Given the description of an element on the screen output the (x, y) to click on. 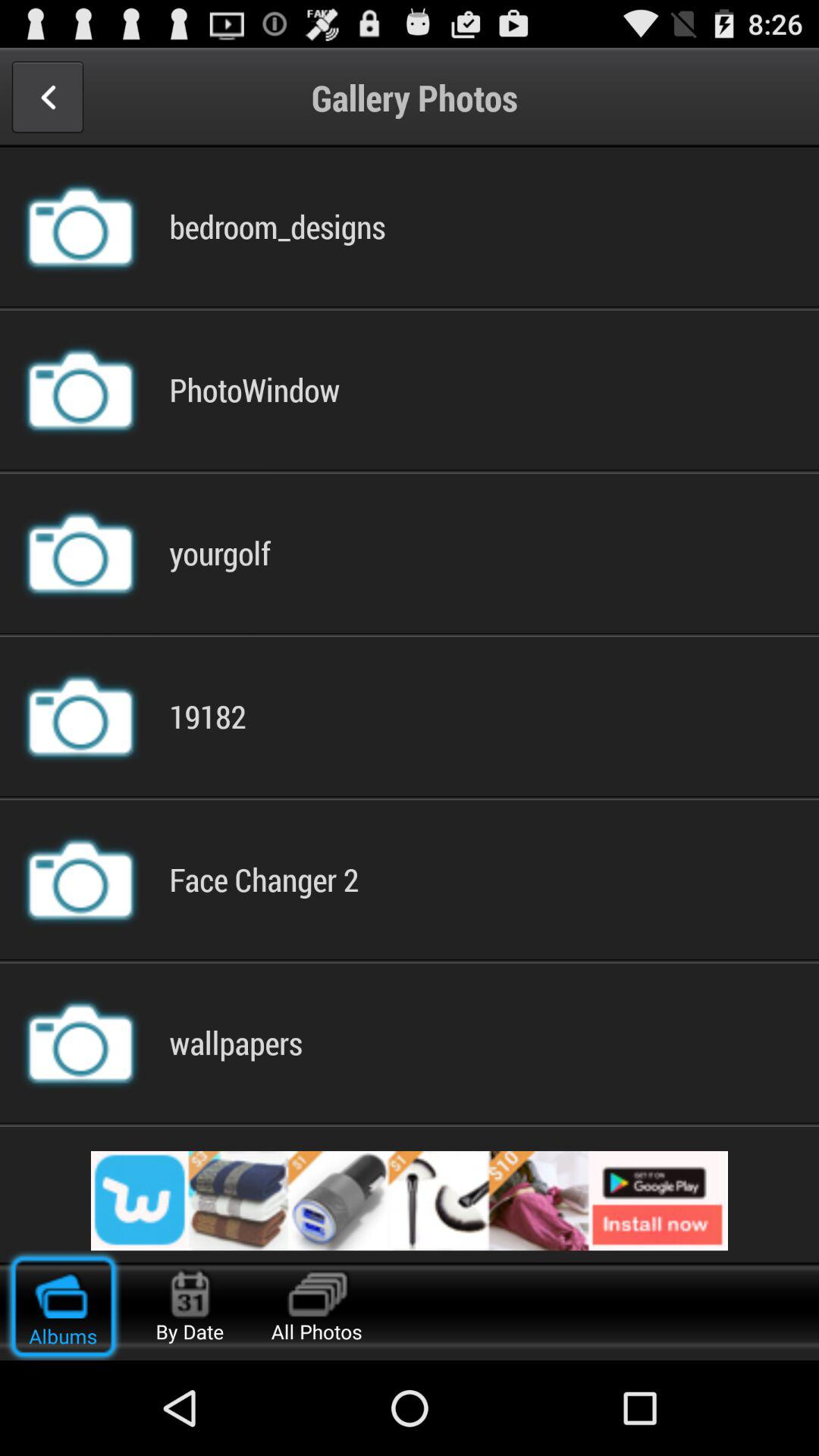
go to calendar icon (190, 1284)
